Given the description of an element on the screen output the (x, y) to click on. 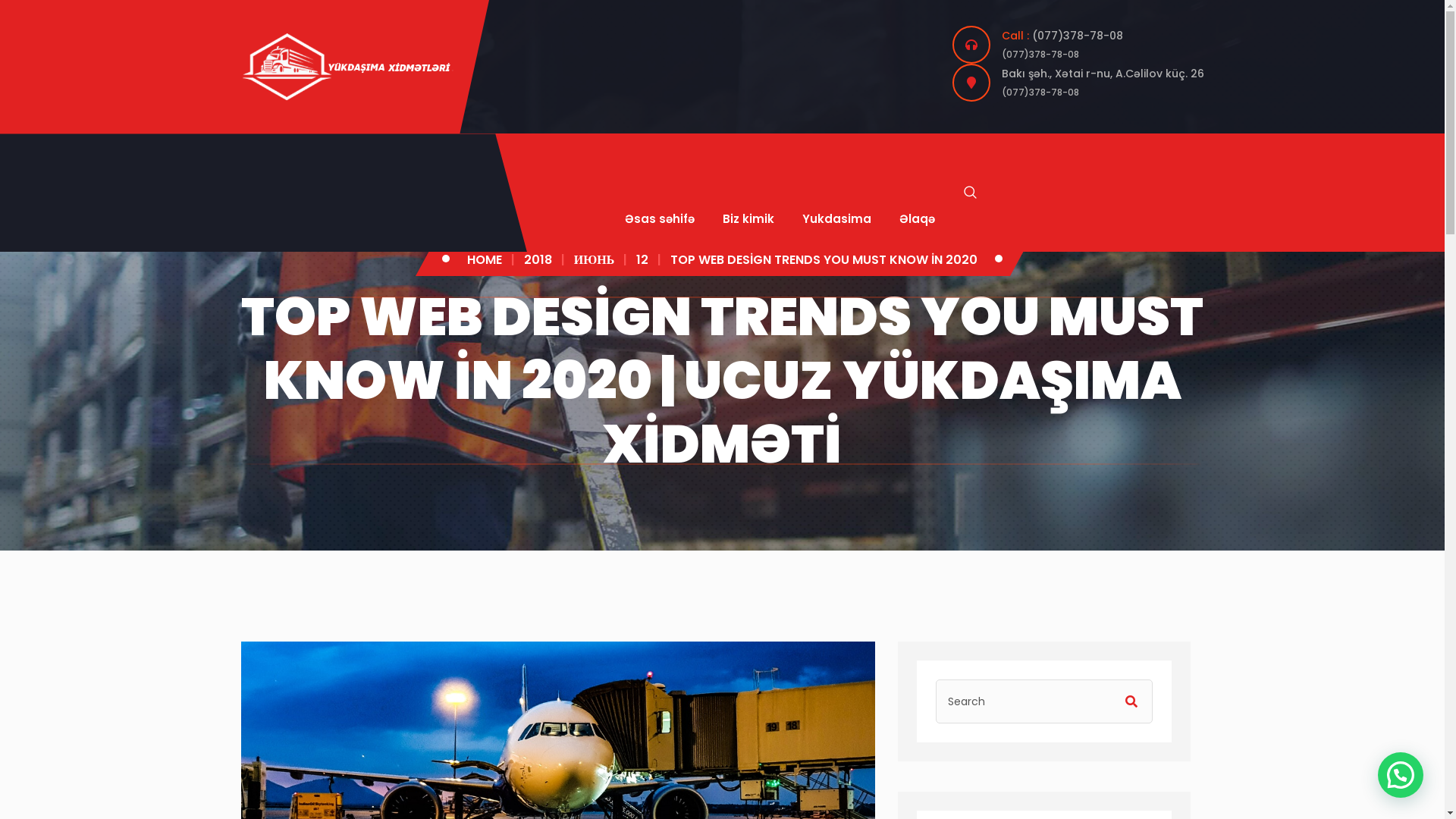
2018 Element type: text (538, 259)
12 Element type: text (642, 259)
Biz kimik Element type: text (747, 218)
HOME Element type: text (484, 259)
Yukdasima Element type: text (836, 218)
